Given the description of an element on the screen output the (x, y) to click on. 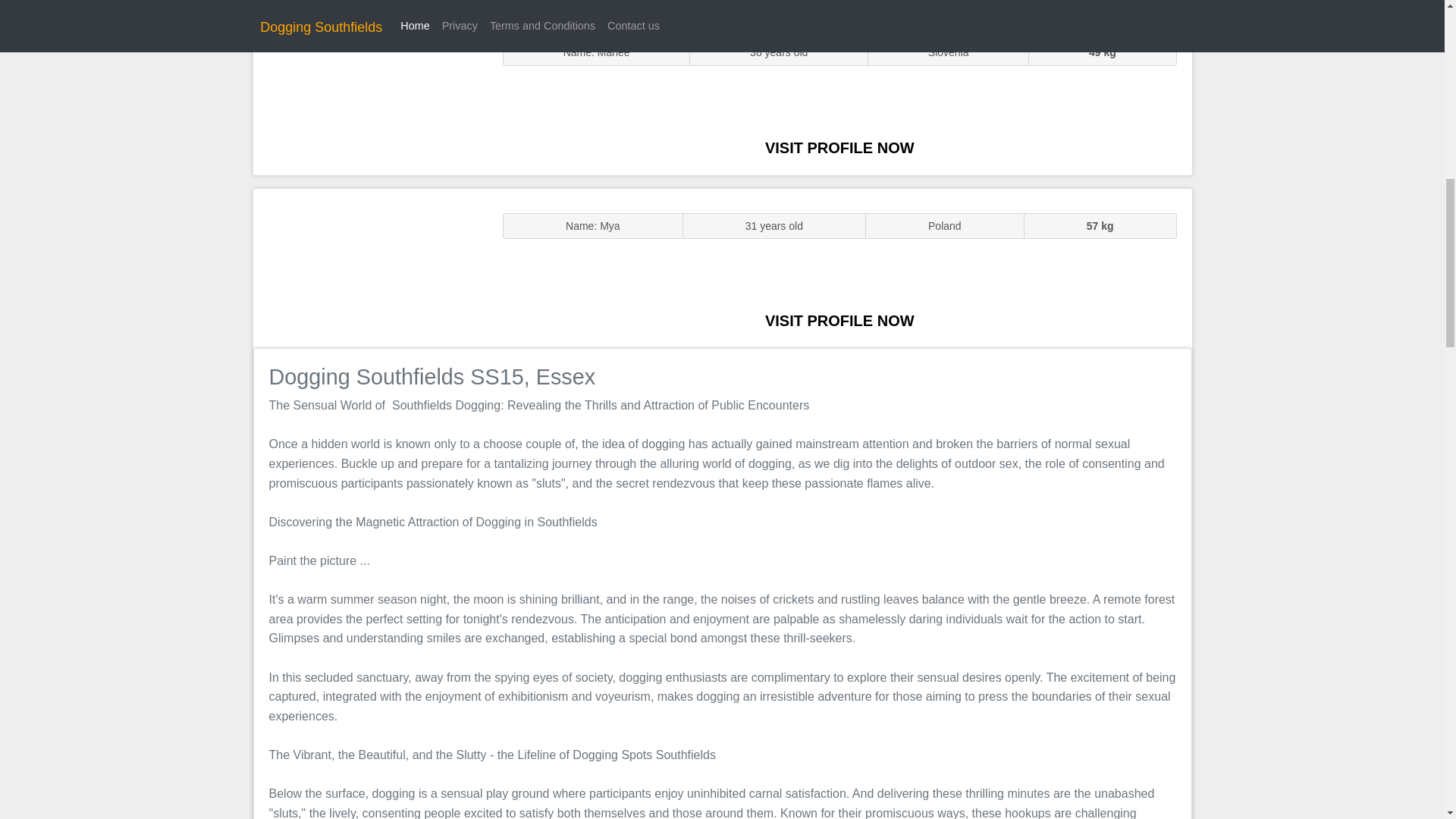
Massage (370, 267)
Sluts (370, 94)
VISIT PROFILE NOW (839, 147)
VISIT PROFILE NOW (839, 320)
